Given the description of an element on the screen output the (x, y) to click on. 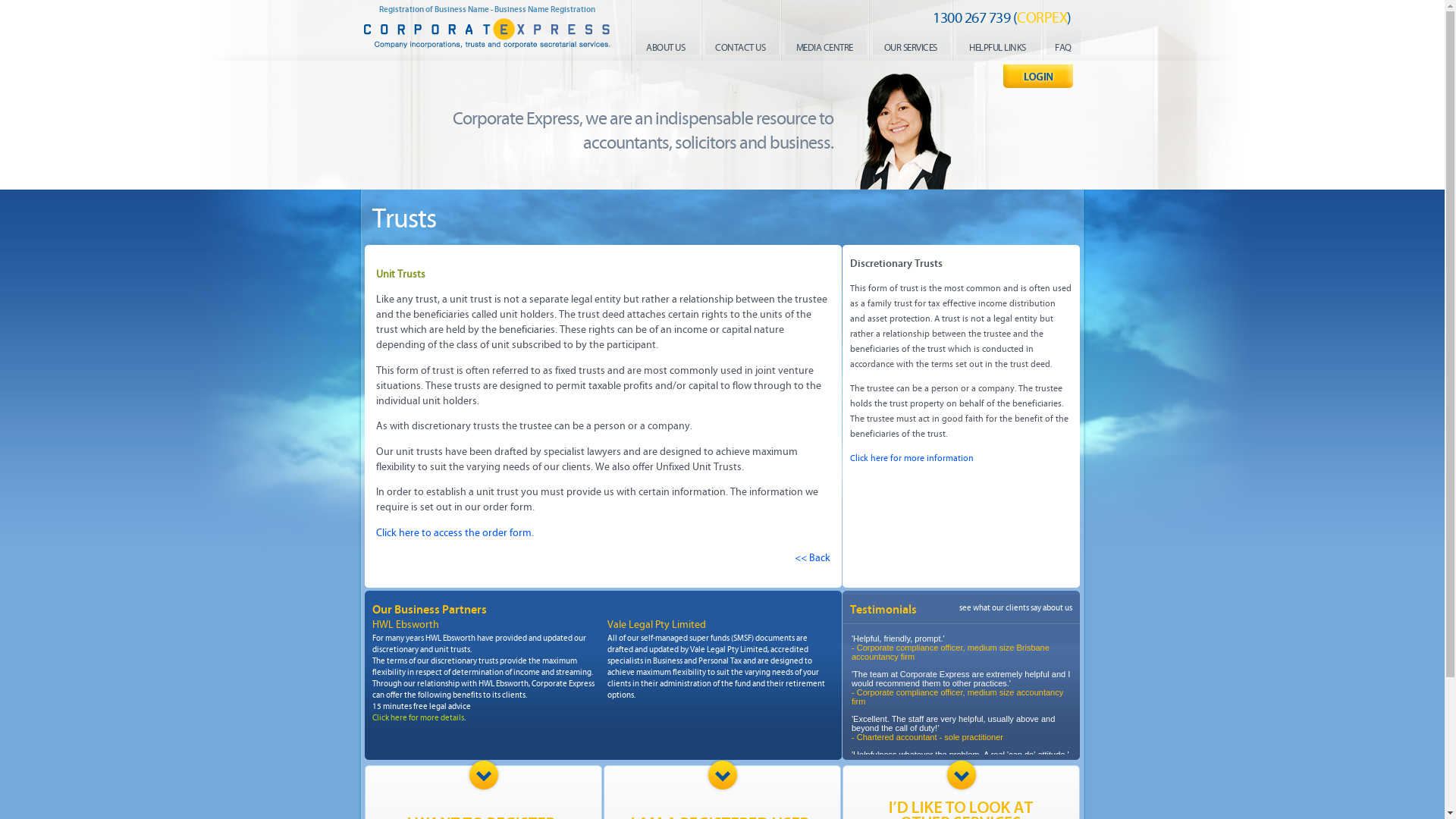
MEDIA CENTRE Element type: text (824, 44)
Click here for more details Element type: text (417, 717)
HELPFUL LINKS Element type: text (997, 44)
OUR SERVICES Element type: text (910, 44)
Click here for more information Element type: text (910, 457)
CONTACT US Element type: text (739, 44)
ABOUT US Element type: text (665, 44)
Unit Trusts Element type: text (400, 273)
<< Back Element type: text (812, 557)
FAQ Element type: text (1063, 44)
Click here to access the order form Element type: text (453, 531)
